Given the description of an element on the screen output the (x, y) to click on. 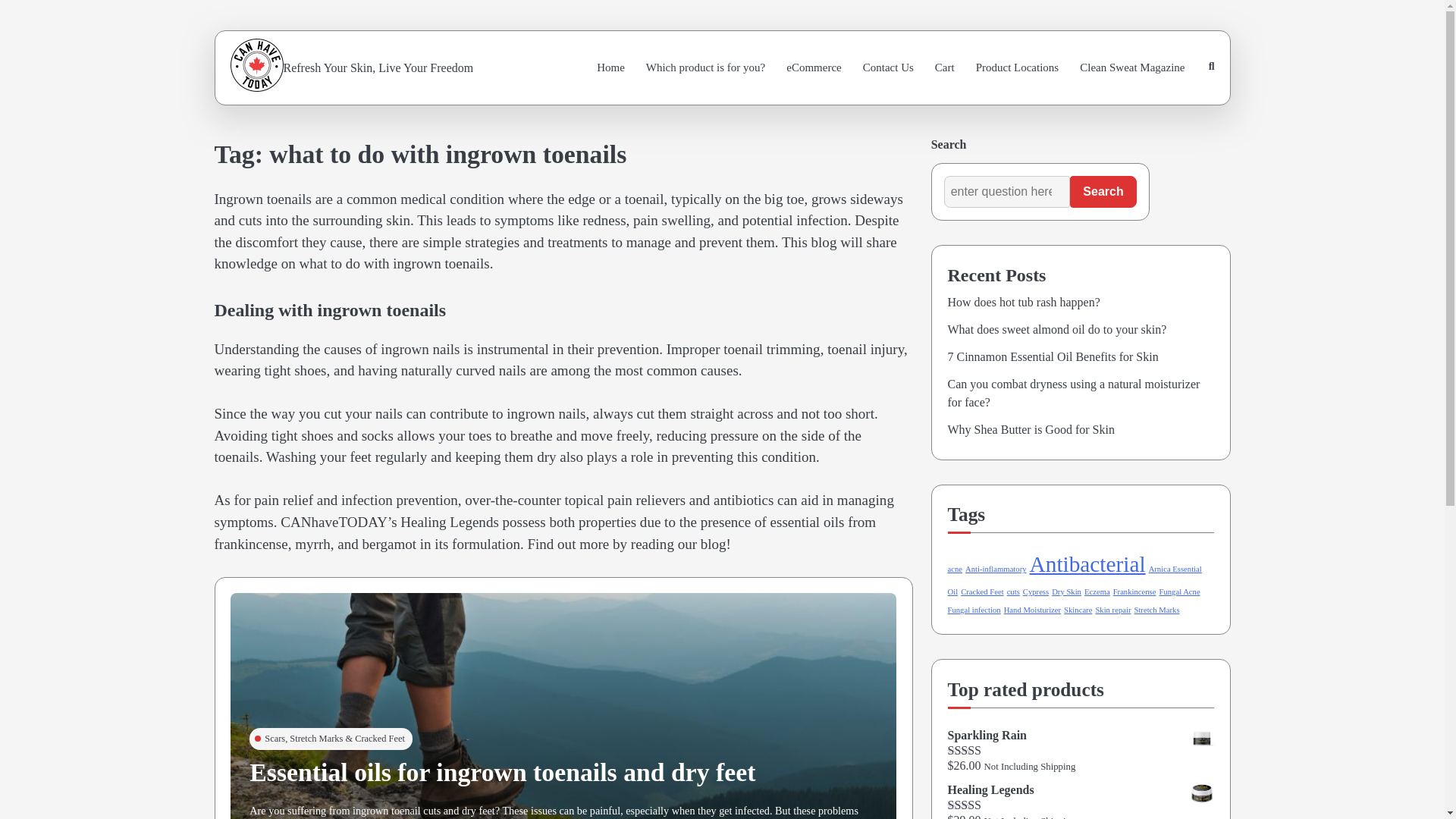
acne (954, 569)
Skin repair (1112, 610)
Dry Skin (1066, 592)
Home (610, 67)
eCommerce (813, 67)
Stretch Marks (1156, 610)
Frankincense (1134, 592)
Search (1102, 192)
Antibacterial (1087, 564)
Can you combat dryness using a natural moisturizer for face? (1073, 392)
Essential oils for ingrown toenails and dry feet (501, 772)
Arnica Essential Oil (1074, 580)
Why Shea Butter is Good for Skin (1031, 429)
cuts (1013, 592)
Cracked Feet (982, 592)
